Given the description of an element on the screen output the (x, y) to click on. 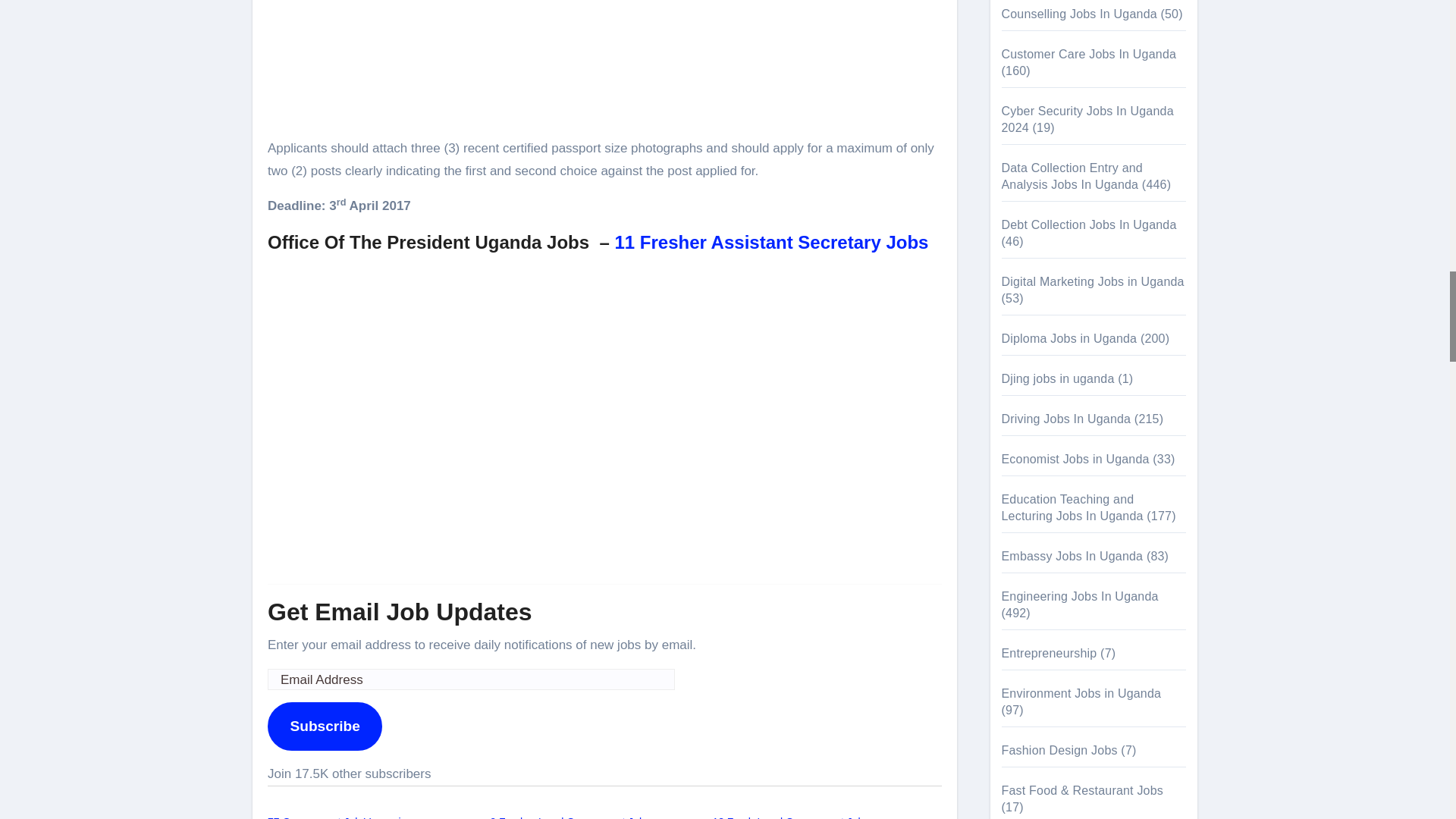
Advertisement (606, 65)
Subscribe (324, 726)
11 Fresher Assistant Secretary Jobs (771, 241)
